Given the description of an element on the screen output the (x, y) to click on. 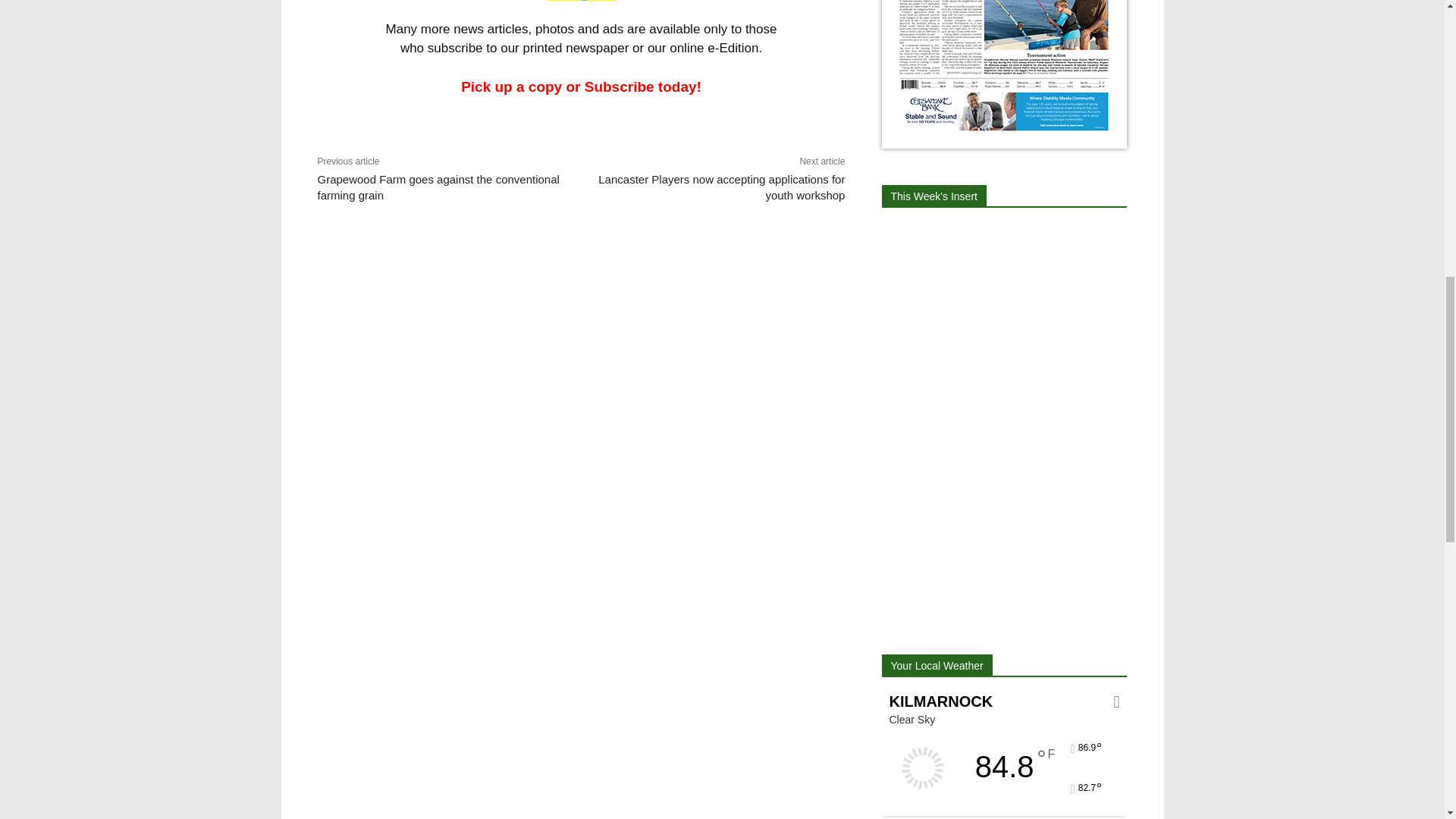
Grapewood Farm goes against the conventional farming grain (438, 186)
This Week's Insert (932, 195)
 Log in (580, 0)
